Given the description of an element on the screen output the (x, y) to click on. 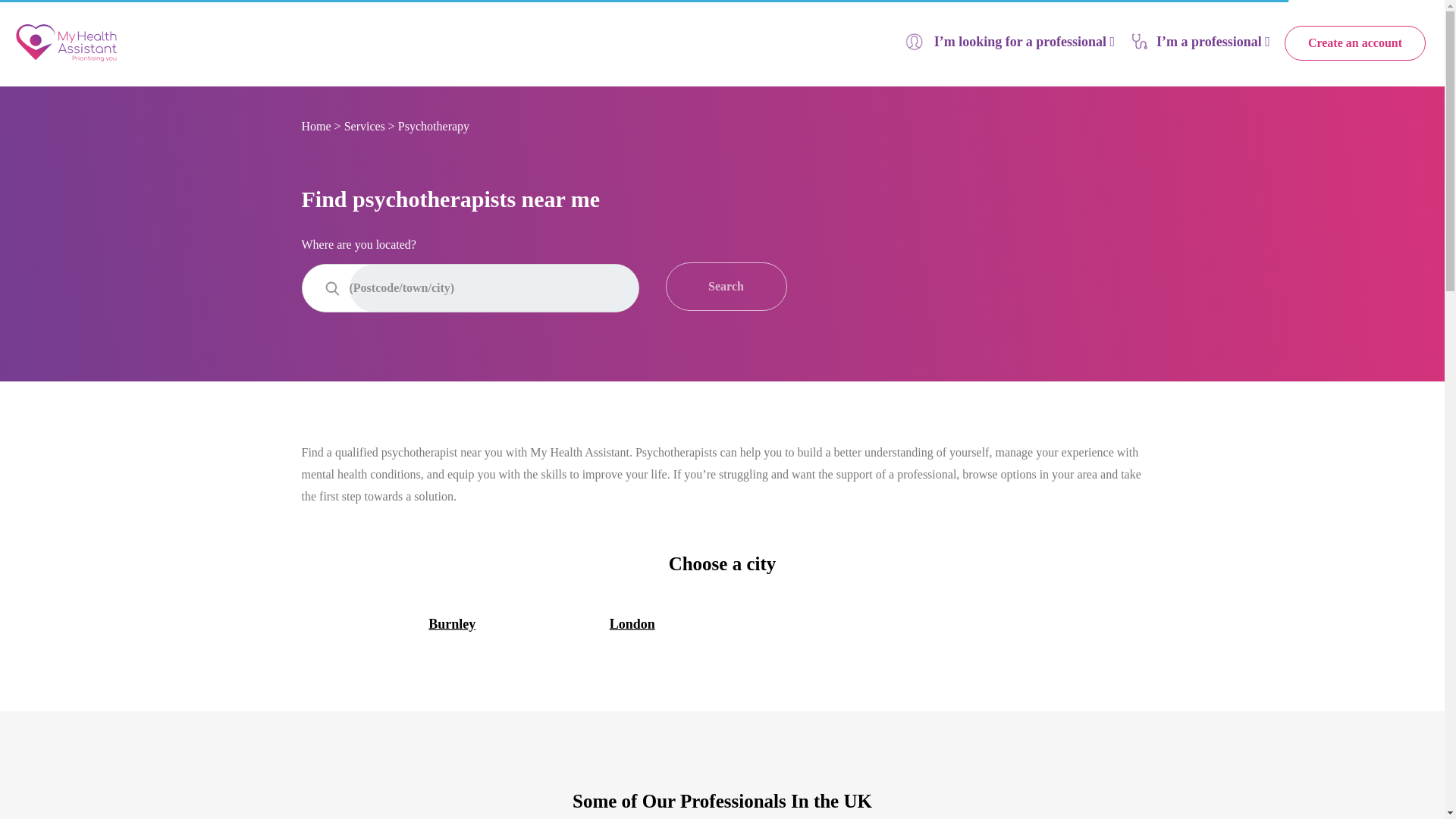
Search (726, 286)
Home (316, 125)
Services (364, 125)
Burnley (450, 624)
Create an account (1354, 42)
London (631, 624)
